Given the description of an element on the screen output the (x, y) to click on. 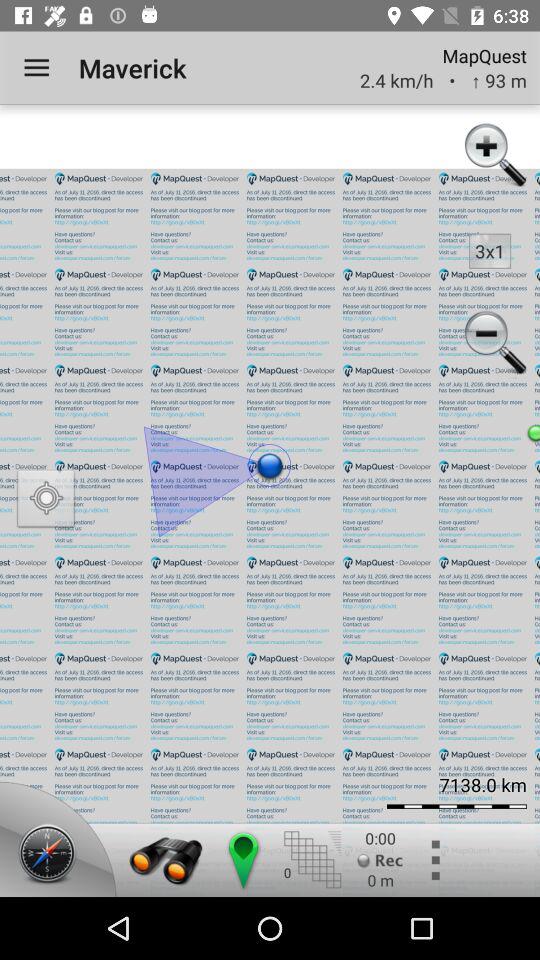
view compass (51, 855)
